Given the description of an element on the screen output the (x, y) to click on. 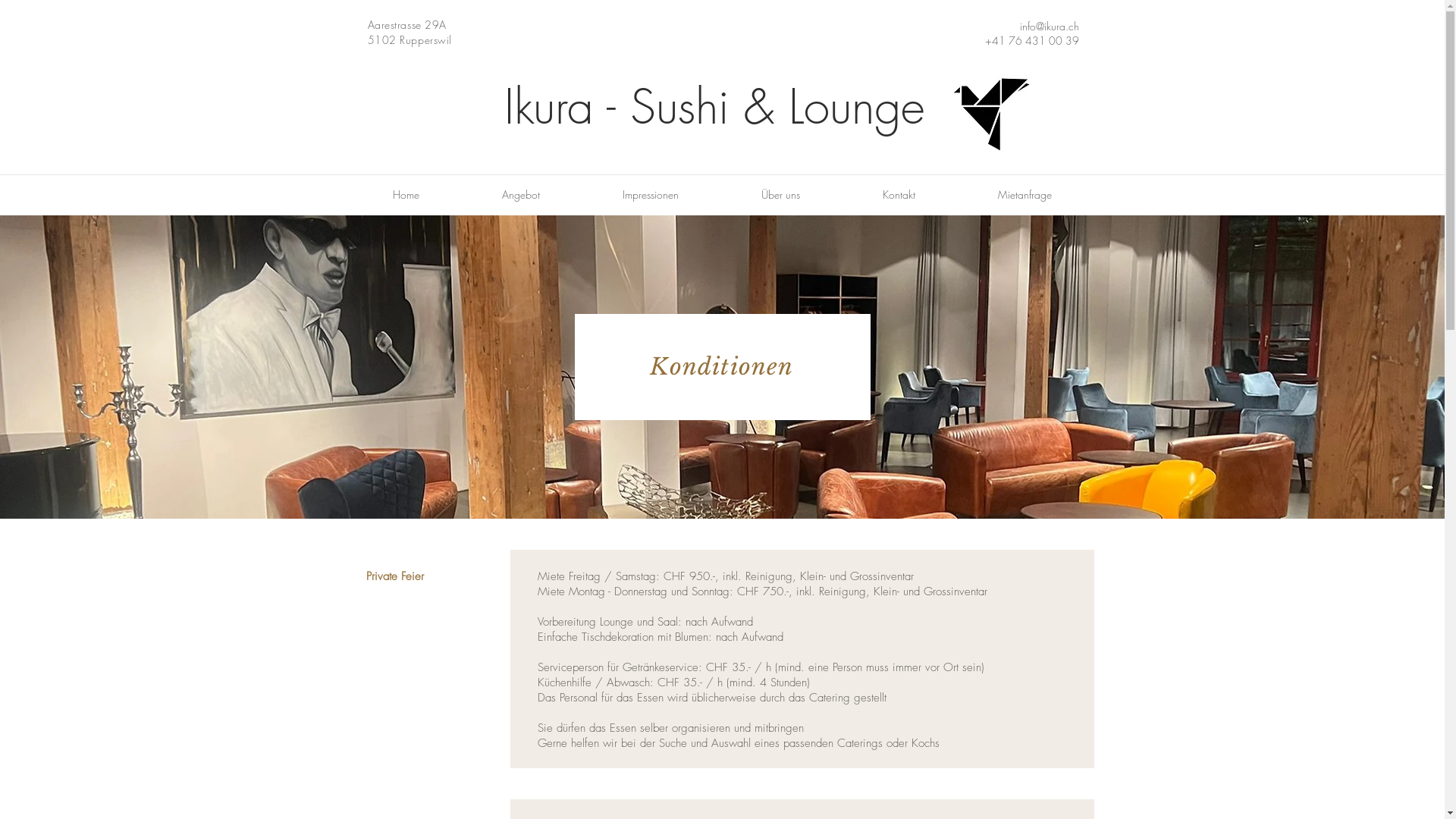
Mietanfrage Element type: text (1025, 194)
info@ikura.ch Element type: text (1048, 25)
Kontakt Element type: text (899, 194)
Impressionen Element type: text (649, 194)
Home Element type: text (405, 194)
Restaurant Logo(1).jpg Element type: hover (986, 108)
